Given the description of an element on the screen output the (x, y) to click on. 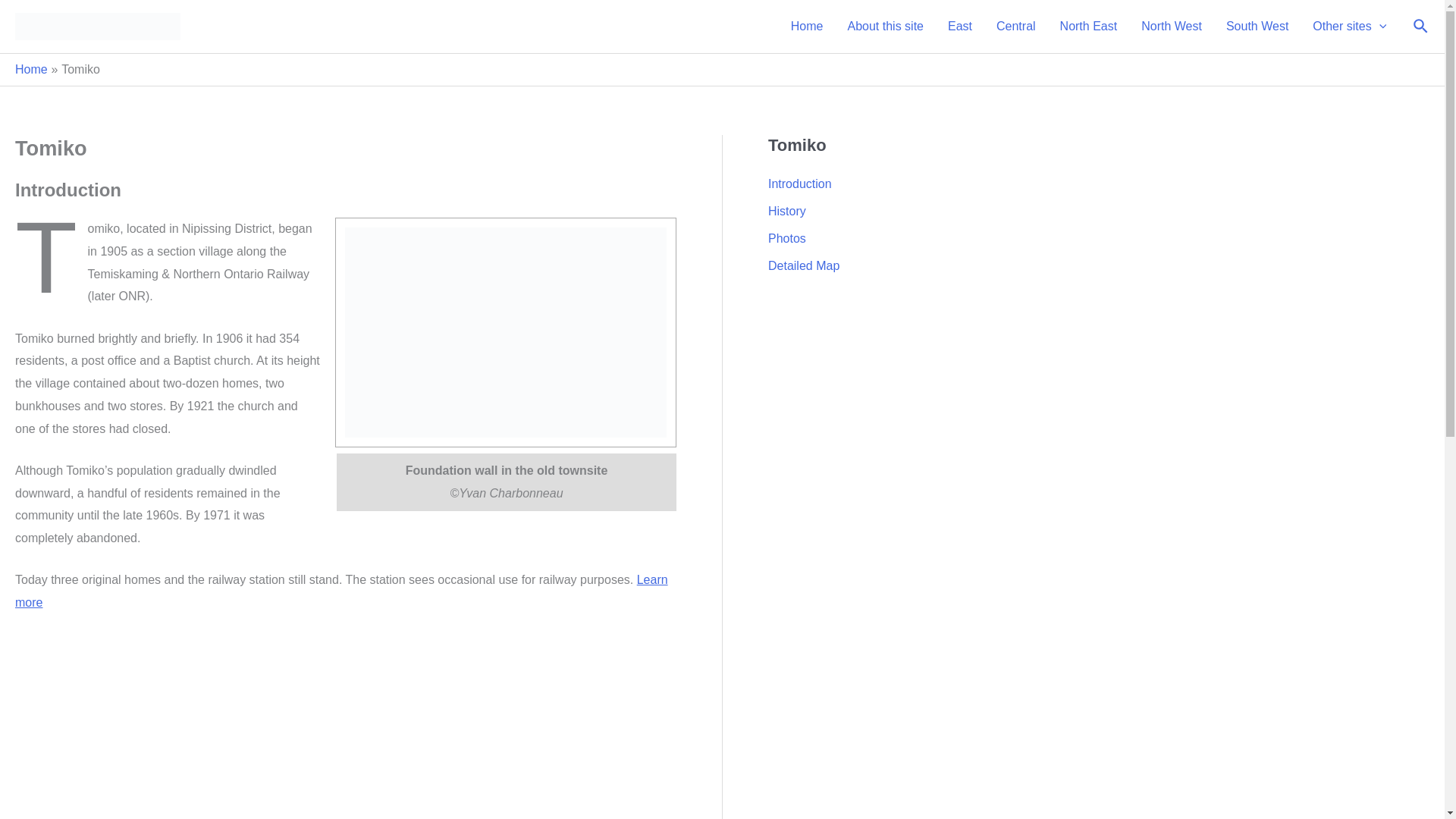
Detailed Map (804, 265)
East (960, 26)
About this site (885, 26)
Photos (787, 237)
Other sites (1348, 26)
South West (1257, 26)
Introduction (799, 183)
Home (31, 69)
Home (806, 26)
History (787, 210)
